Given the description of an element on the screen output the (x, y) to click on. 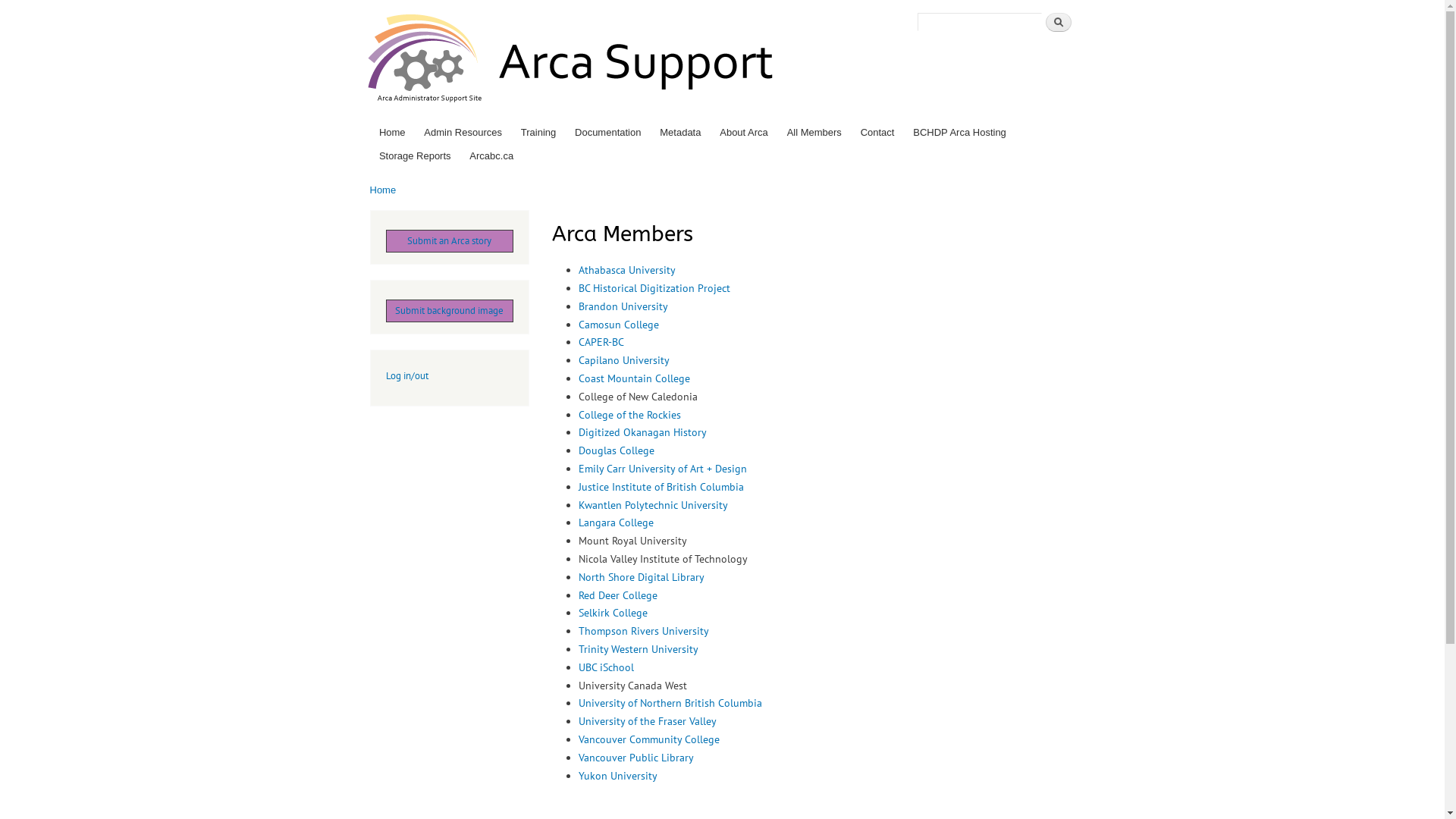
Vancouver Public Library Element type: text (635, 757)
UBC iSchool Element type: text (605, 667)
Home Element type: hover (572, 60)
Athabasca University Element type: text (625, 269)
Storage Reports Element type: text (414, 155)
Brandon University Element type: text (622, 306)
Training Element type: text (537, 132)
Skip to main content Element type: text (690, 1)
All Members Element type: text (813, 132)
Submit background image Element type: text (449, 310)
About Arca Element type: text (743, 132)
Arcabc.ca Element type: text (491, 155)
Digitized Okanagan History Element type: text (641, 432)
Submit an Arca story Element type: text (449, 240)
Douglas College Element type: text (615, 450)
Thompson Rivers University Element type: text (642, 630)
Justice Institute of British Columbia Element type: text (660, 486)
Log in/out Element type: text (406, 375)
Enter the terms you wish to search for. Element type: hover (979, 21)
Selkirk College Element type: text (611, 612)
BC Historical Digitization Project Element type: text (653, 287)
Search Element type: text (1057, 21)
North Shore Digital Library Element type: text (640, 576)
Admin Resources Element type: text (462, 132)
Capilano University Element type: text (622, 360)
Kwantlen Polytechnic University Element type: text (652, 504)
Arca Support Element type: text (856, 34)
Vancouver Community College Element type: text (647, 739)
Emily Carr University of Art + Design Element type: text (661, 468)
Metadata Element type: text (680, 132)
University of the Fraser Valley Element type: text (646, 721)
Langara College Element type: text (614, 522)
Yukon University Element type: text (616, 775)
BCHDP Arca Hosting Element type: text (959, 132)
Home Element type: text (383, 189)
College of the Rockies Element type: text (628, 414)
University of Northern British Columbia Element type: text (669, 702)
Camosun College Element type: text (617, 324)
Contact Element type: text (877, 132)
Trinity Western University Element type: text (637, 648)
CAPER-BC Element type: text (600, 341)
Home Element type: text (392, 132)
Documentation Element type: text (608, 132)
Coast Mountain College Element type: text (633, 378)
Red Deer College Element type: text (616, 595)
